Given the description of an element on the screen output the (x, y) to click on. 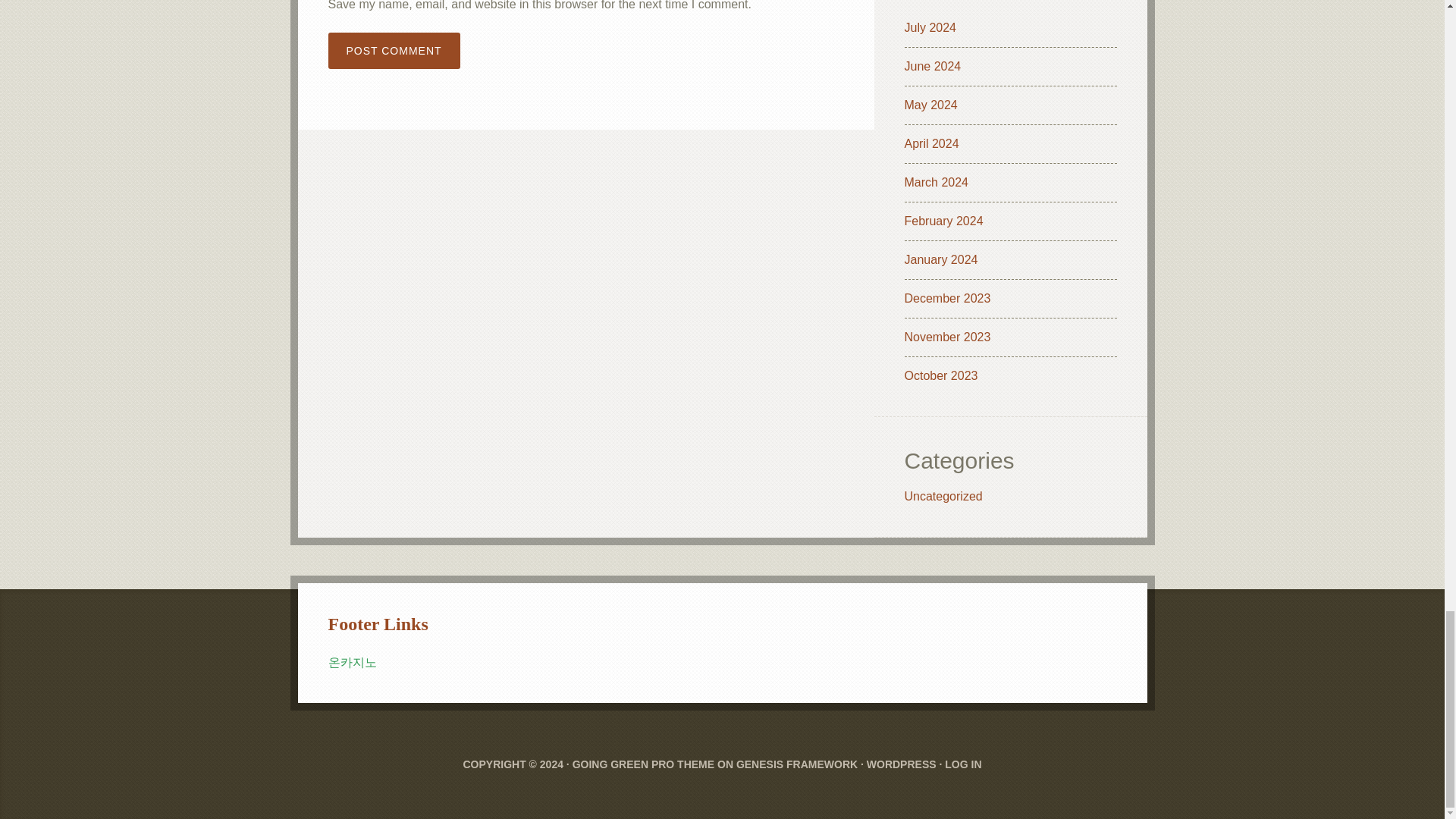
Post Comment (393, 50)
November 2023 (947, 336)
WORDPRESS (901, 764)
January 2024 (940, 259)
Post Comment (393, 50)
October 2023 (940, 375)
April 2024 (931, 143)
March 2024 (936, 182)
December 2023 (947, 297)
Uncategorized (942, 495)
